Given the description of an element on the screen output the (x, y) to click on. 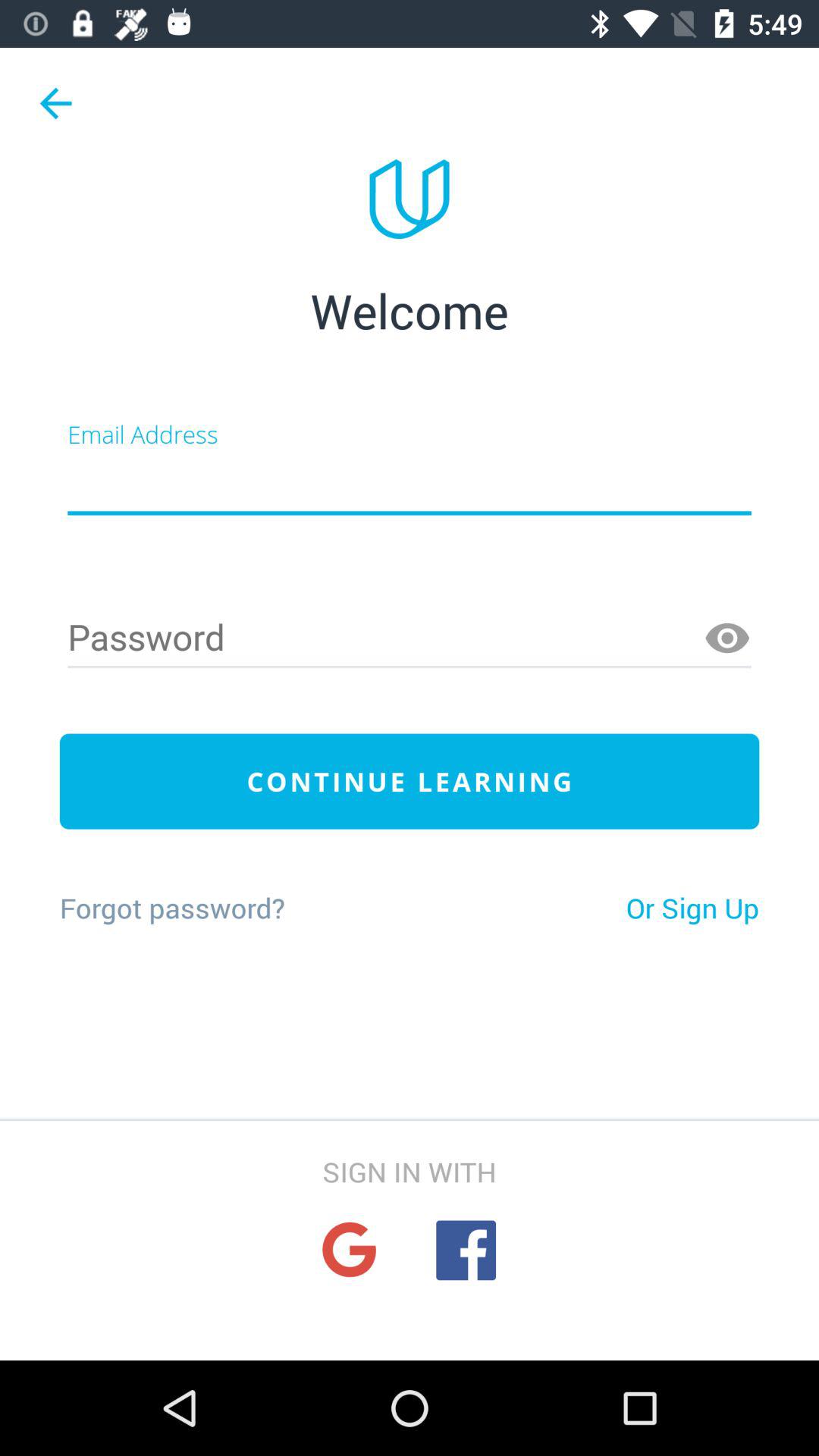
make password visible (727, 638)
